Given the description of an element on the screen output the (x, y) to click on. 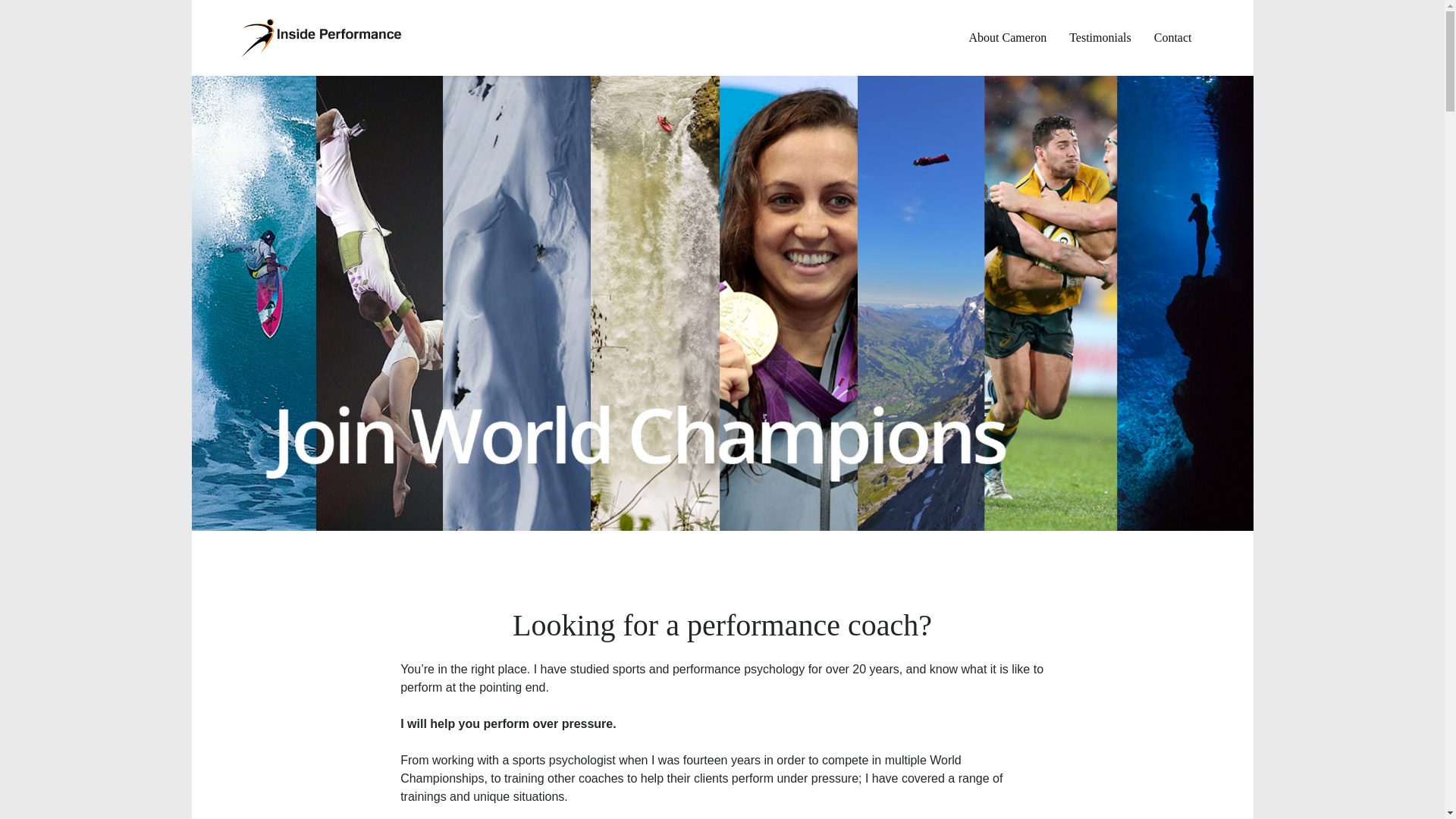
Contact Element type: text (1173, 37)
Testimonials Element type: text (1100, 37)
Performance Coach Perth Element type: hover (322, 37)
About Cameron Element type: text (1008, 37)
